Given the description of an element on the screen output the (x, y) to click on. 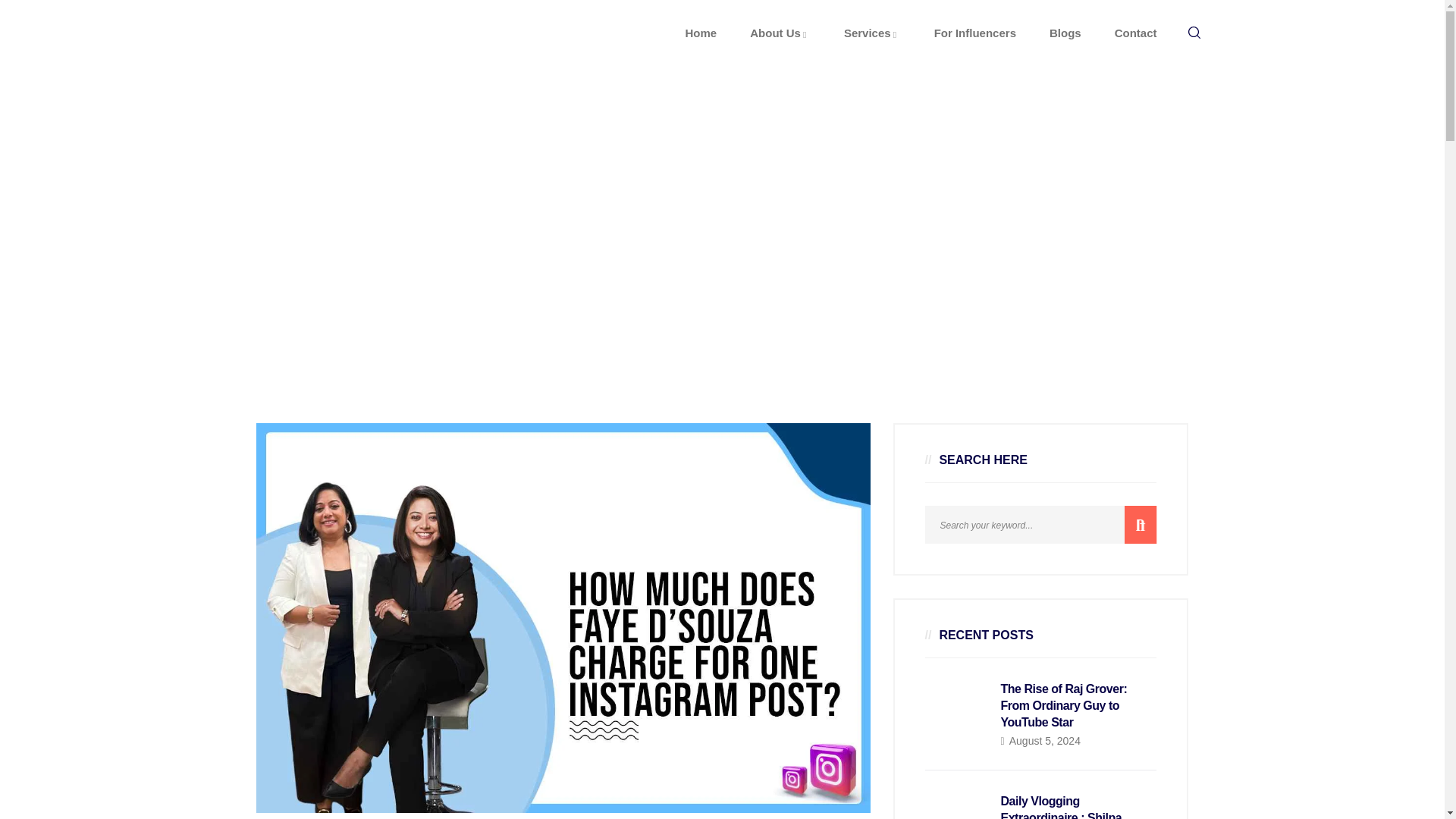
For Influencers (975, 33)
About Us (780, 33)
Services (872, 33)
